Given the description of an element on the screen output the (x, y) to click on. 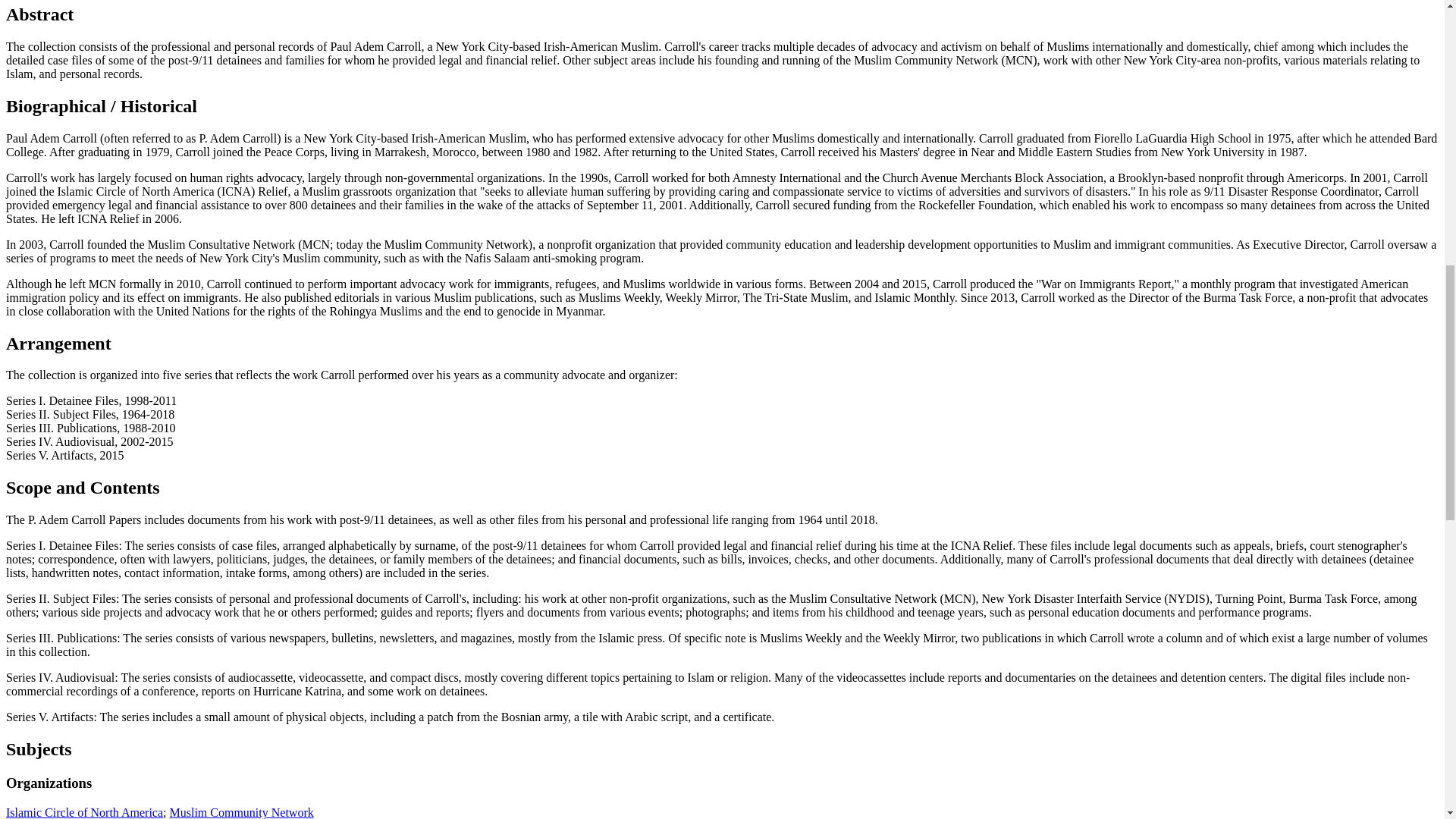
Muslim Community Network (242, 812)
Islamic Circle of North America (84, 812)
